Given the description of an element on the screen output the (x, y) to click on. 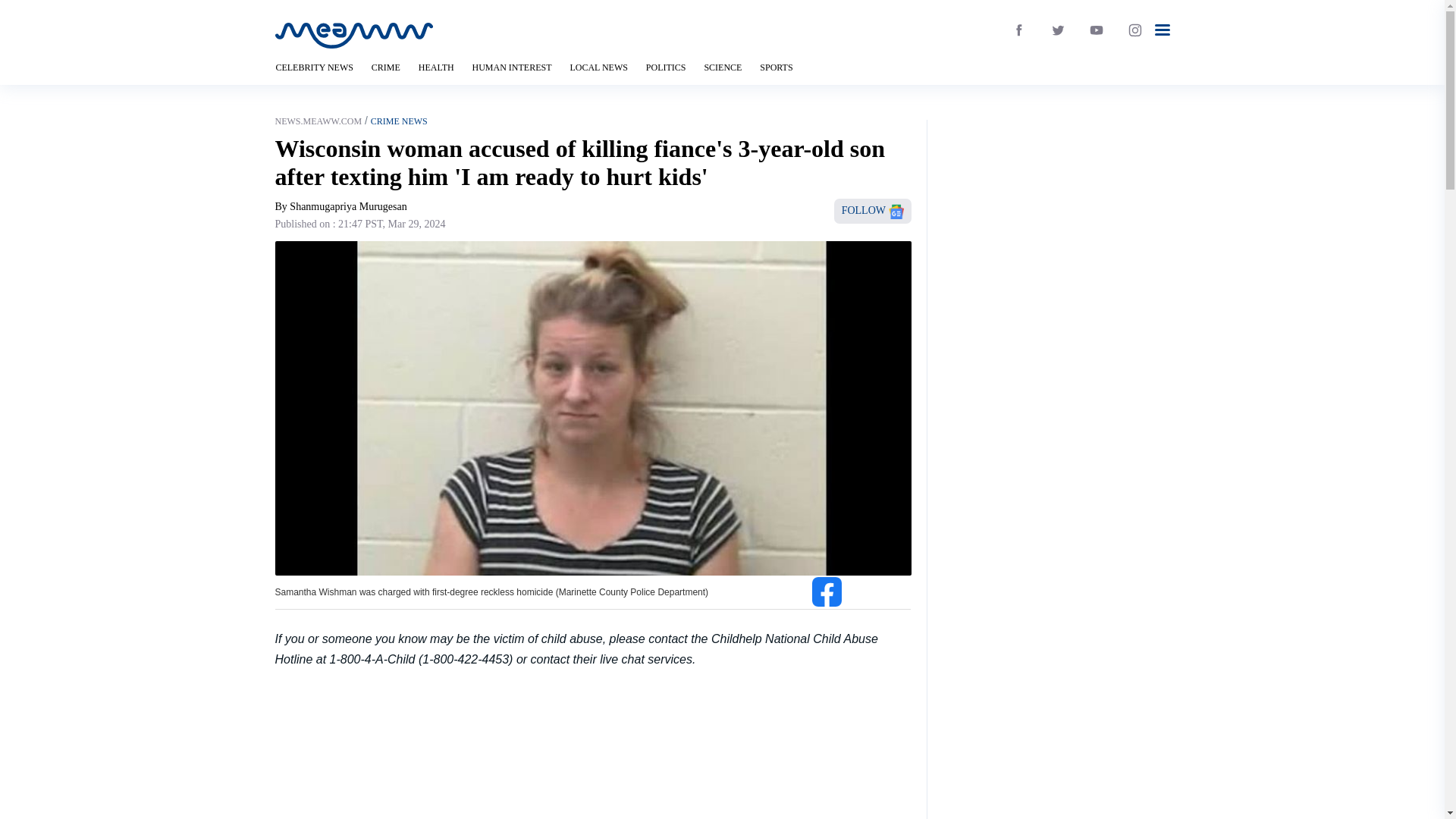
LOCAL NEWS (598, 67)
CRIME (385, 67)
CELEBRITY NEWS (314, 67)
HEALTH (436, 67)
POLITICS (665, 67)
HUMAN INTEREST (511, 67)
SPORTS (776, 67)
SCIENCE (722, 67)
